Given the description of an element on the screen output the (x, y) to click on. 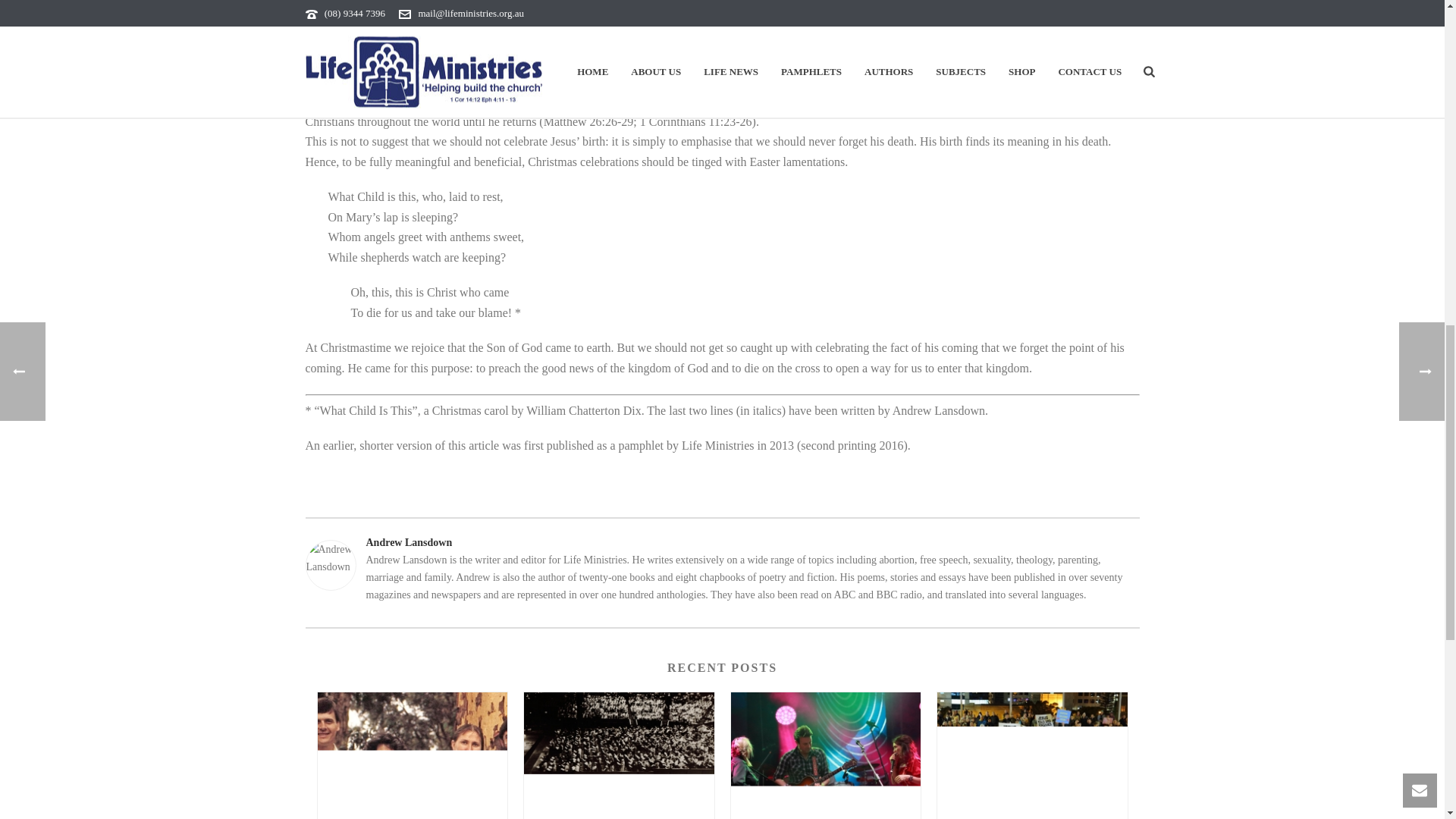
23rd annual Rally for Life (1031, 755)
Lighthouse Man (825, 755)
Andrew Lansdown (721, 542)
